Given the description of an element on the screen output the (x, y) to click on. 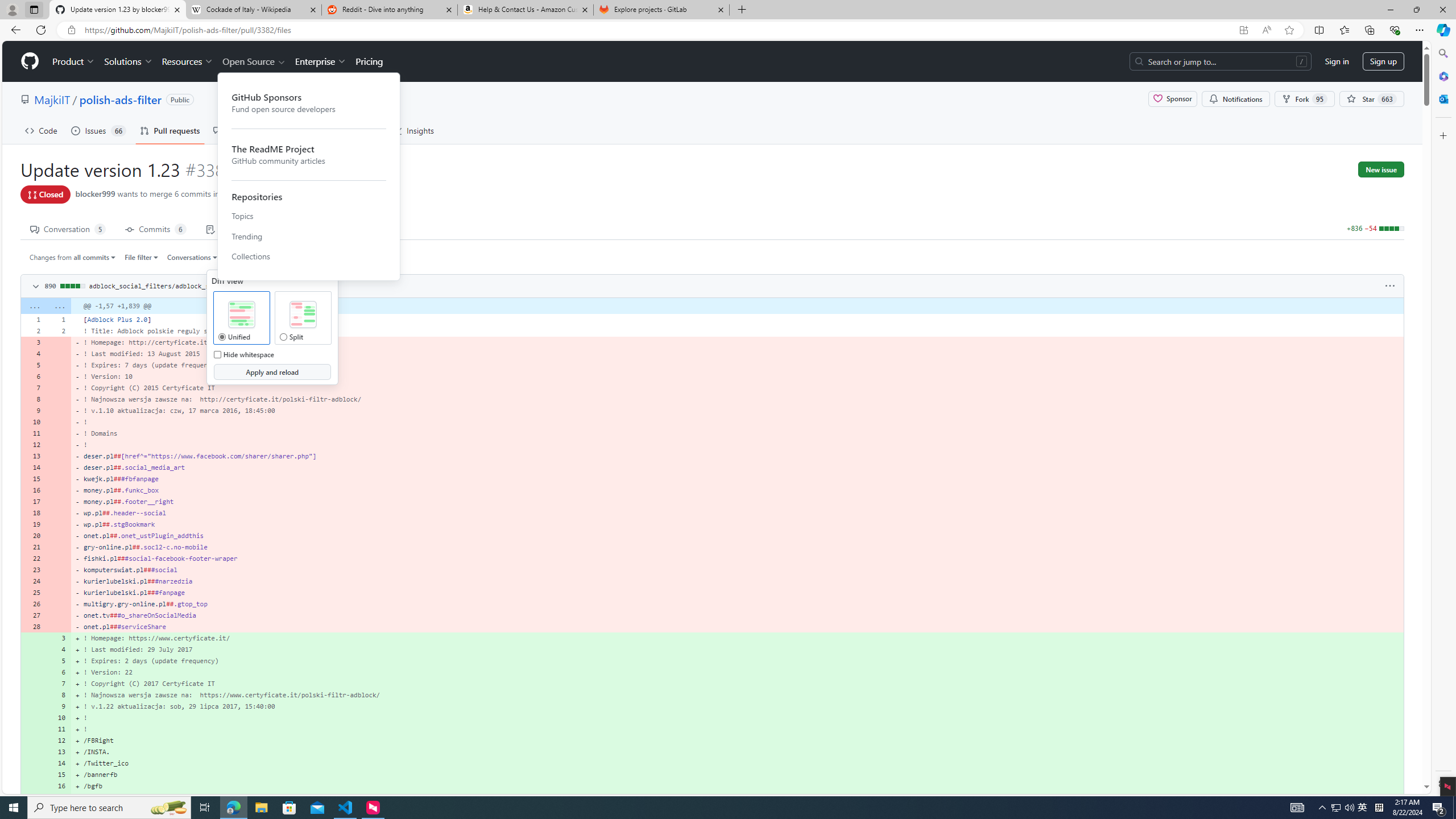
Help & Contact Us - Amazon Customer Service (525, 9)
+ ! (737, 728)
